Given the description of an element on the screen output the (x, y) to click on. 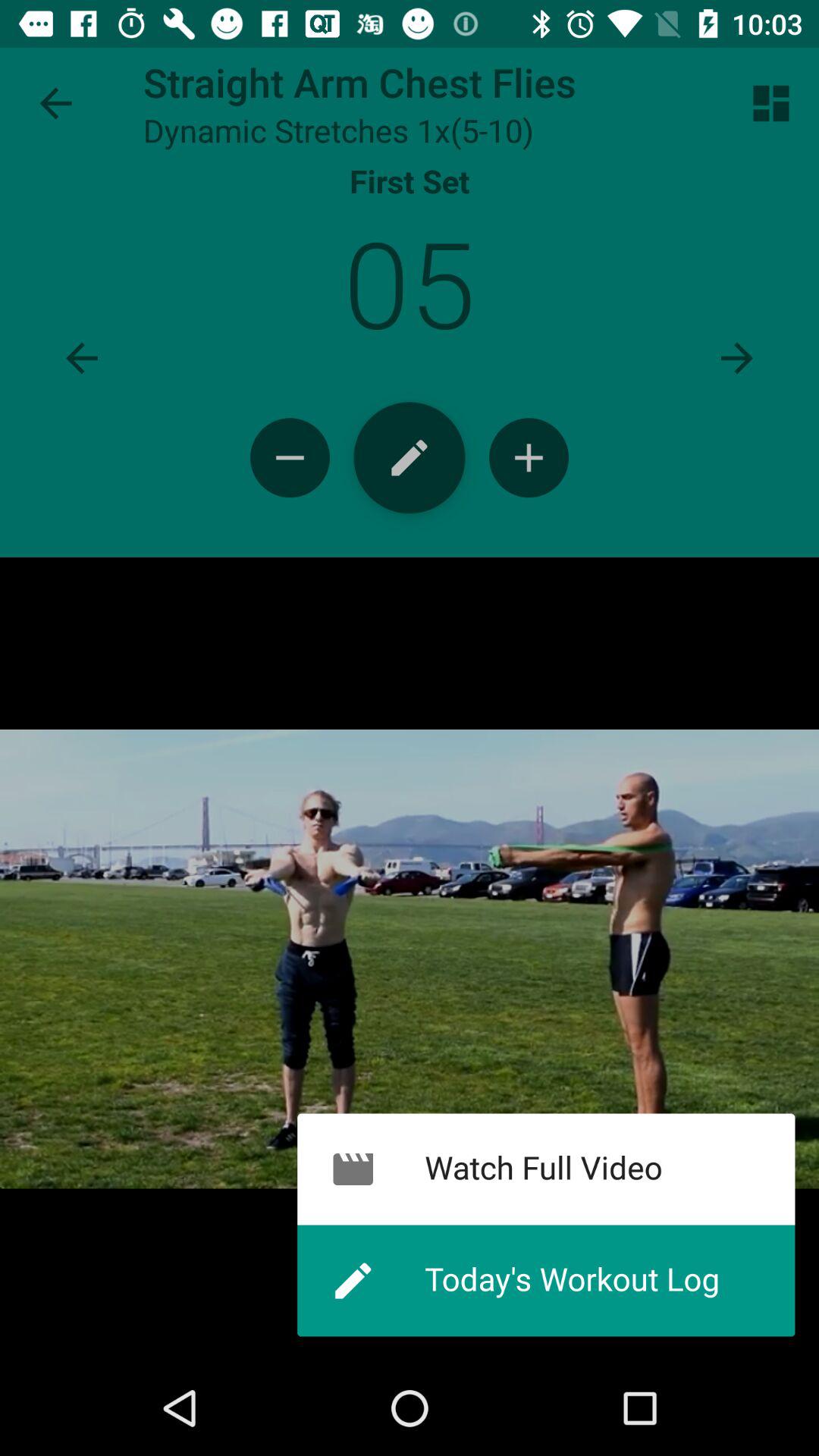
go to next set (737, 358)
